Given the description of an element on the screen output the (x, y) to click on. 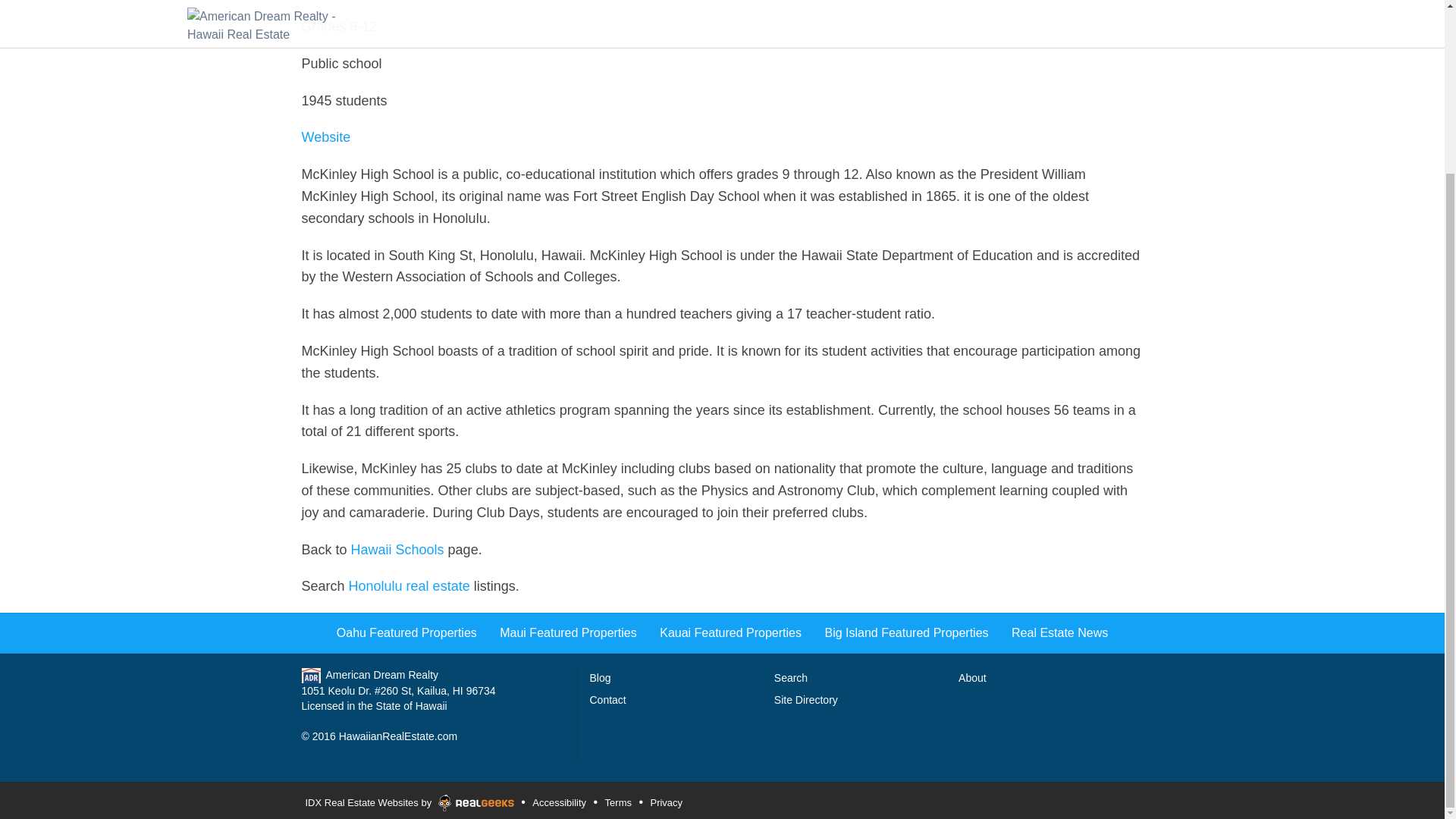
Oahu Featured Properties (406, 632)
Blog (600, 677)
Real Estate News (1059, 632)
Accessibility (558, 802)
Big Island Featured Properties (906, 632)
Contact (607, 699)
Terms (617, 802)
Kauai Featured Properties (730, 632)
Privacy (665, 802)
Search (791, 677)
